Given the description of an element on the screen output the (x, y) to click on. 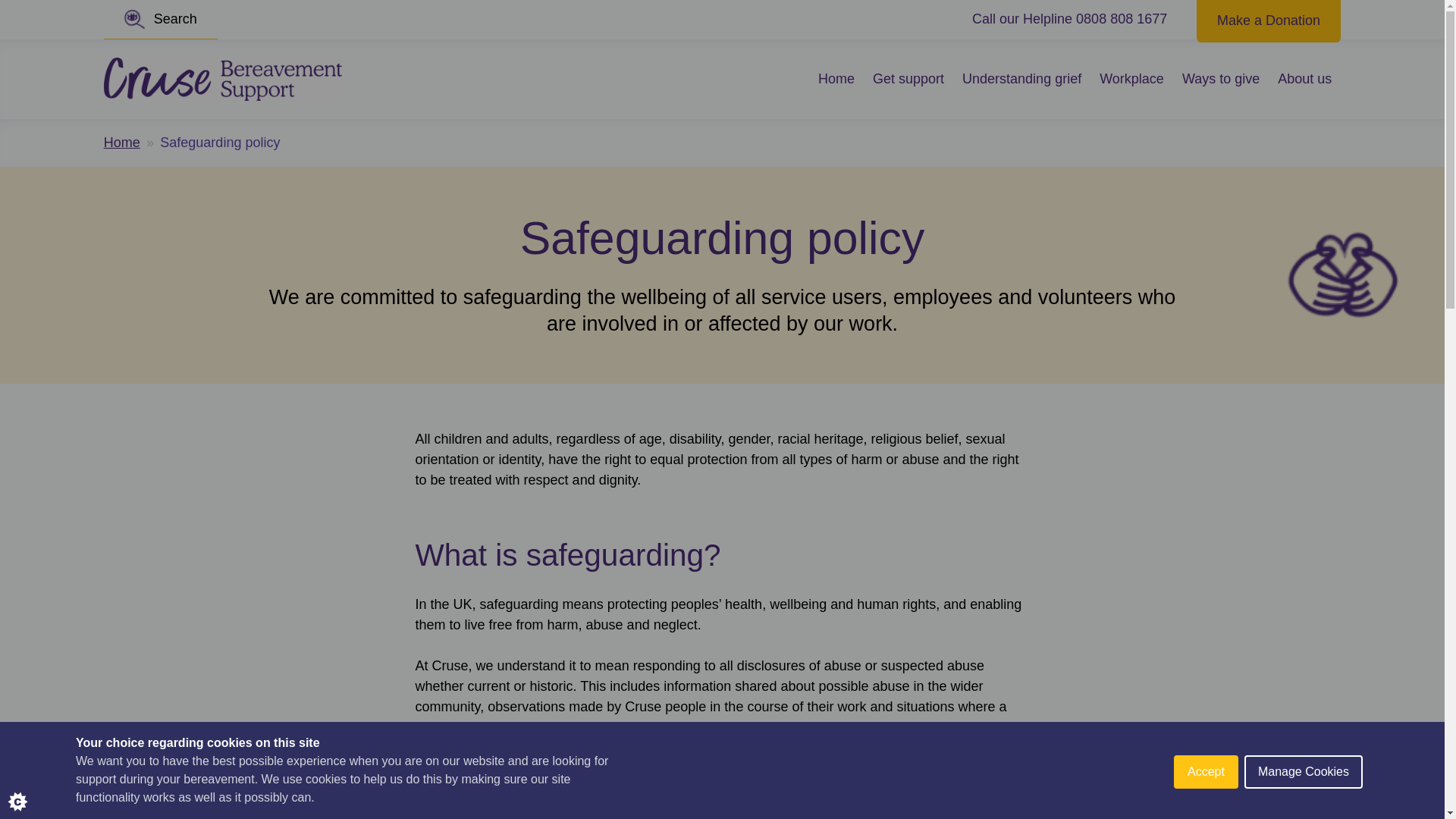
Search (159, 19)
Understanding grief (1021, 78)
Ways to give (1220, 78)
Workplace (1131, 78)
Accept (1206, 790)
Get support (908, 78)
About us (1304, 78)
Call our Helpline 0808 808 1677 (1070, 19)
Manage Cookies (1303, 786)
Make a Donation (1268, 19)
Home (121, 142)
